Given the description of an element on the screen output the (x, y) to click on. 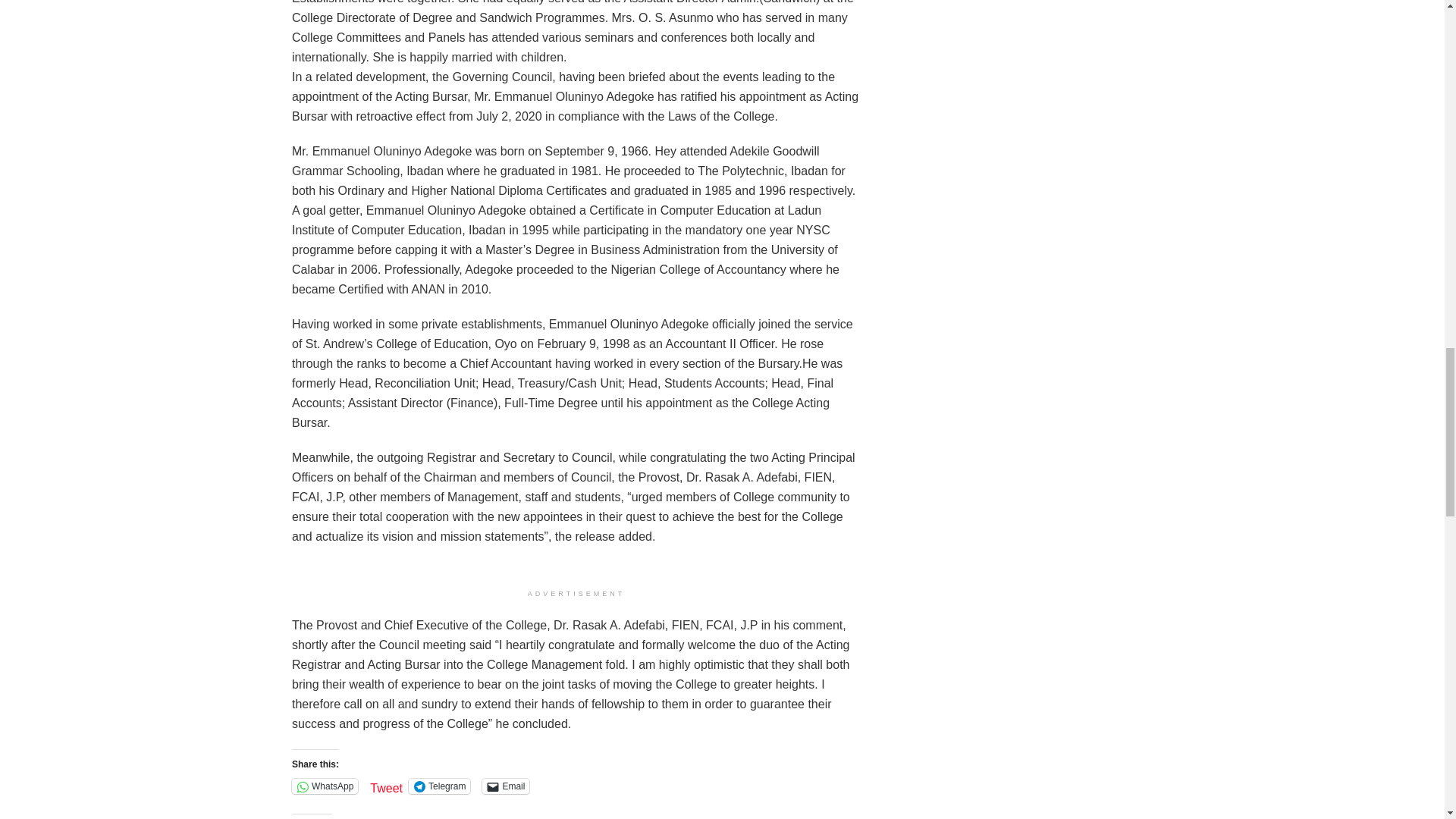
Click to email a link to a friend (505, 785)
Click to share on Telegram (439, 785)
Click to share on WhatsApp (325, 785)
